Given the description of an element on the screen output the (x, y) to click on. 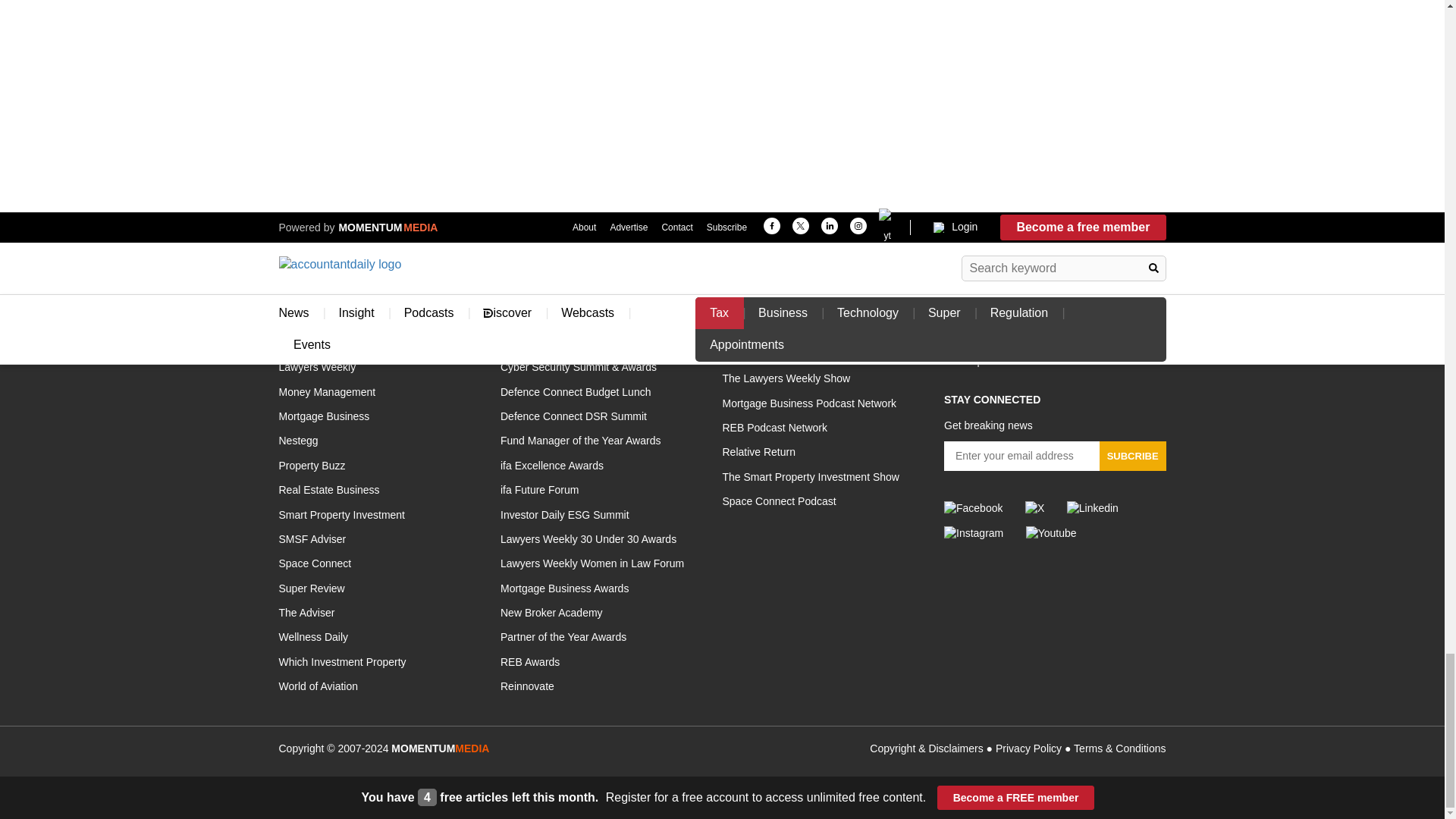
SUBCRIBE (1132, 455)
